Given the description of an element on the screen output the (x, y) to click on. 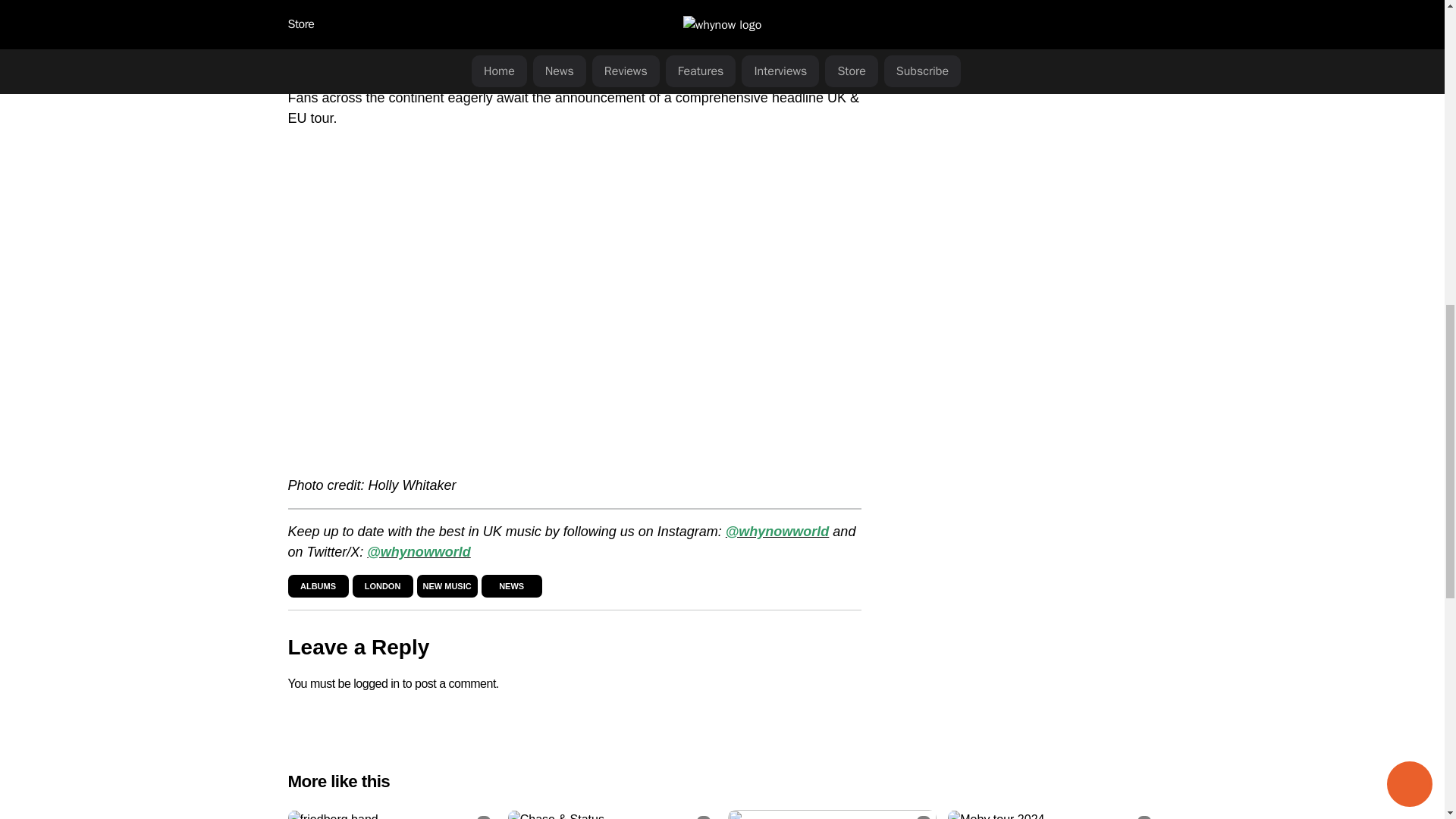
ALBUMS (317, 585)
logged in (375, 683)
NEWS (511, 585)
News (511, 585)
Favourite this post (703, 817)
LONDON (383, 585)
NEW MUSIC (447, 585)
rock (328, 5)
Arctic Monkeys (334, 23)
Favourite this post (1144, 817)
New Music (447, 585)
Favourite this post (923, 817)
Albums (317, 585)
HAIM (669, 5)
Favourite this post (483, 817)
